Given the description of an element on the screen output the (x, y) to click on. 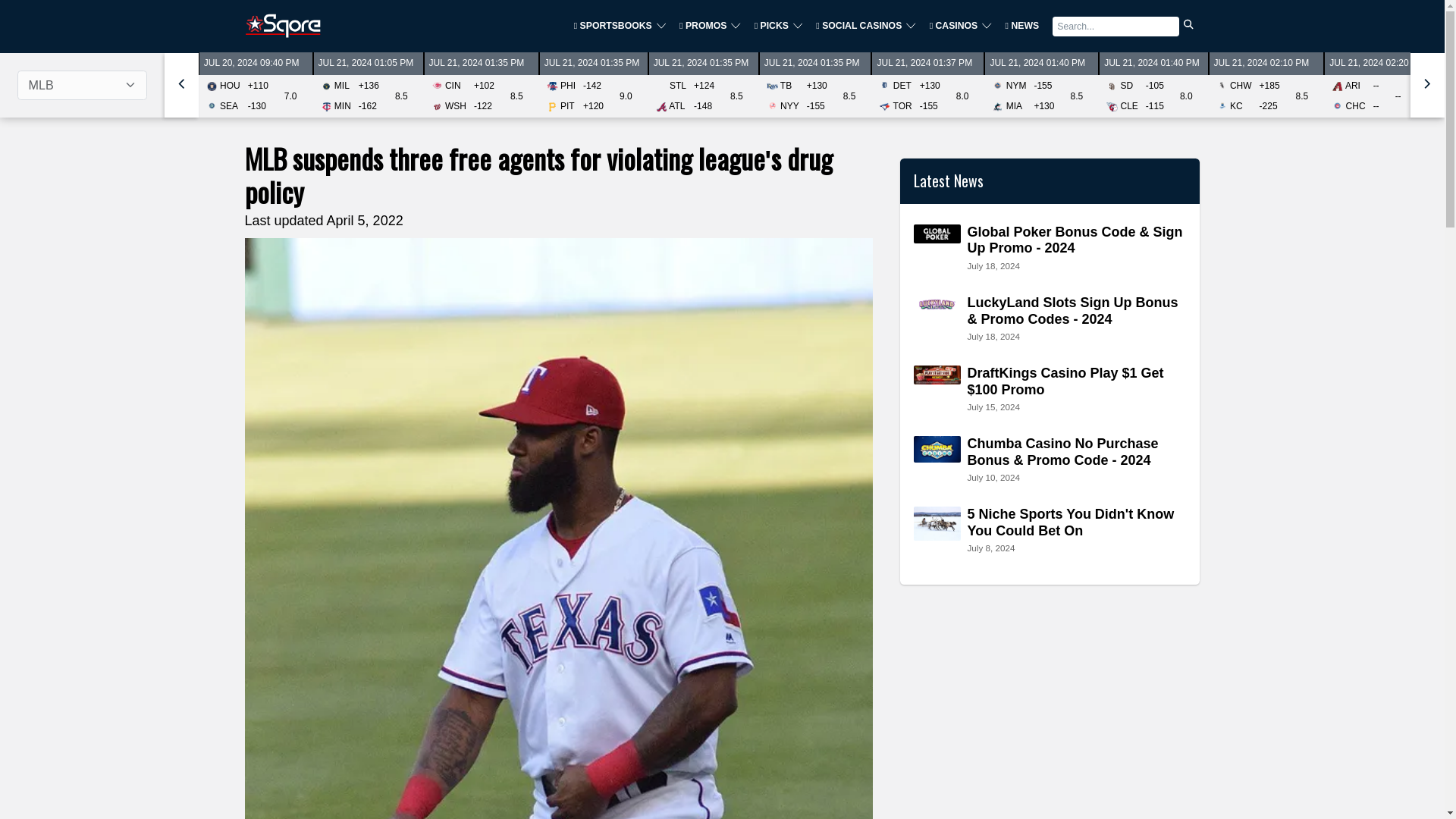
Go to main page (282, 25)
